Given the description of an element on the screen output the (x, y) to click on. 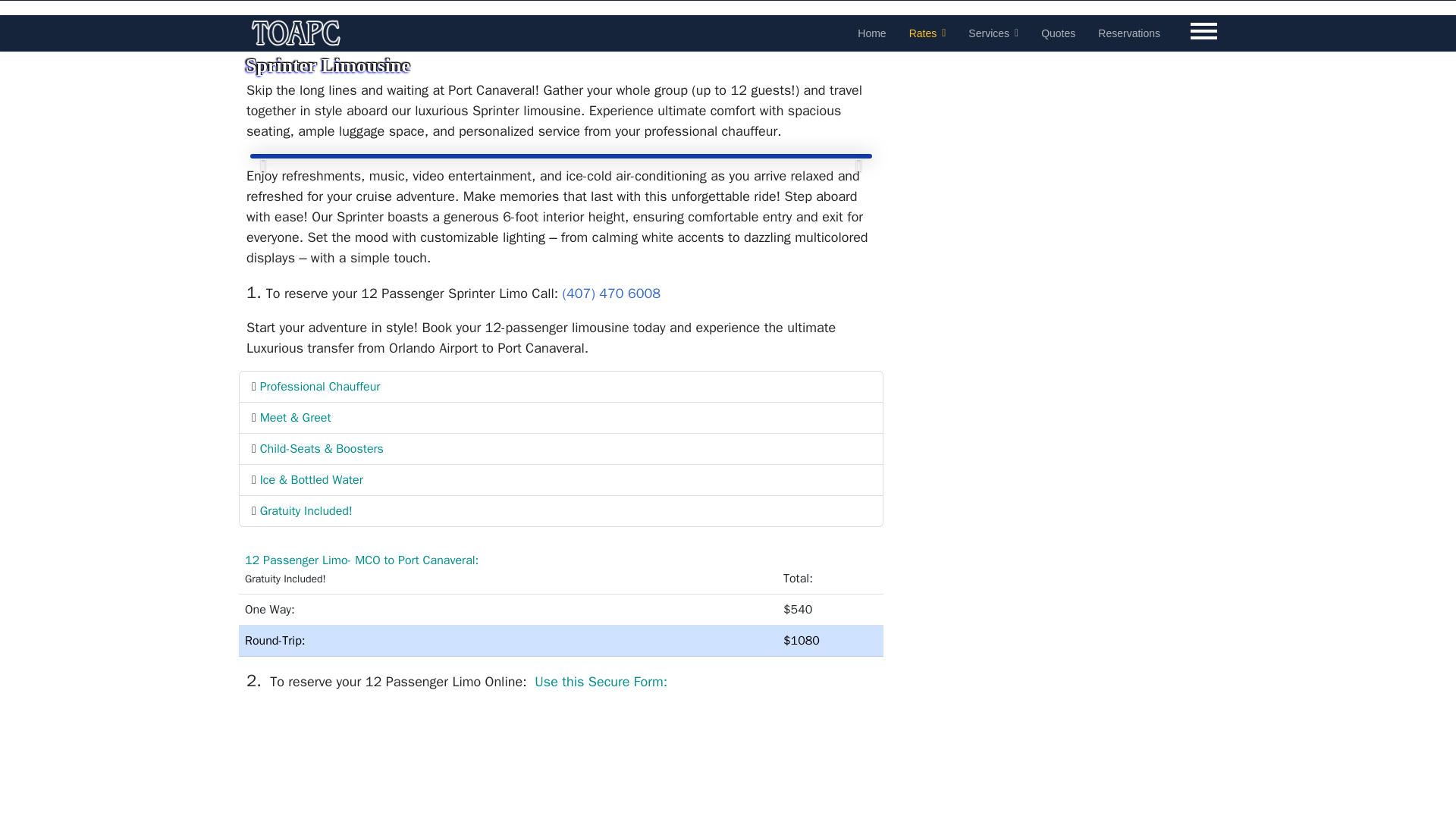
Services (992, 33)
Quotes (1057, 33)
Quotes (1057, 33)
Home (870, 33)
Services (992, 33)
Home (870, 33)
Rates (928, 33)
Rates (928, 33)
Reservations (1129, 33)
Reservations (1129, 33)
